Given the description of an element on the screen output the (x, y) to click on. 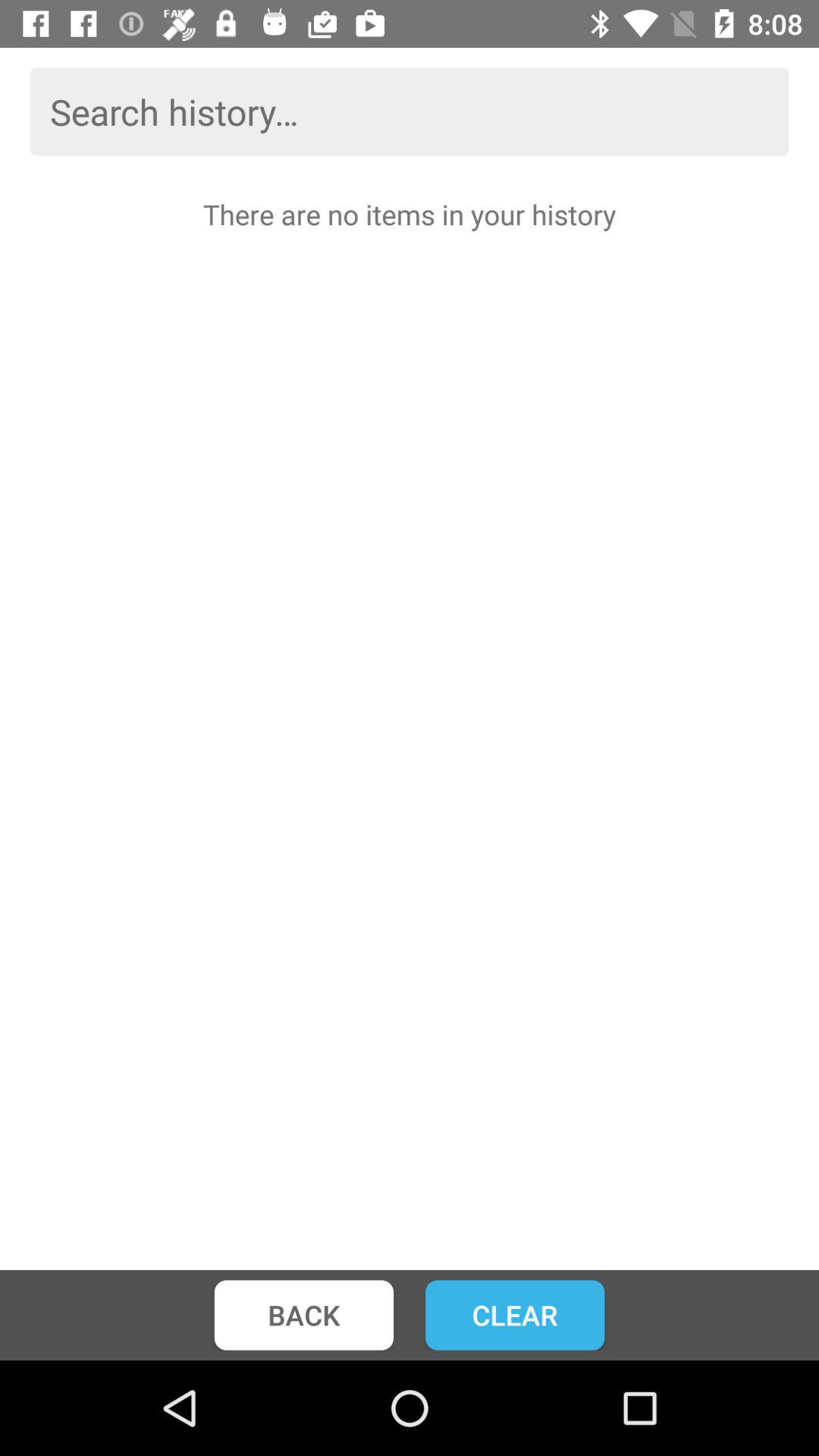
scroll to back item (303, 1315)
